Given the description of an element on the screen output the (x, y) to click on. 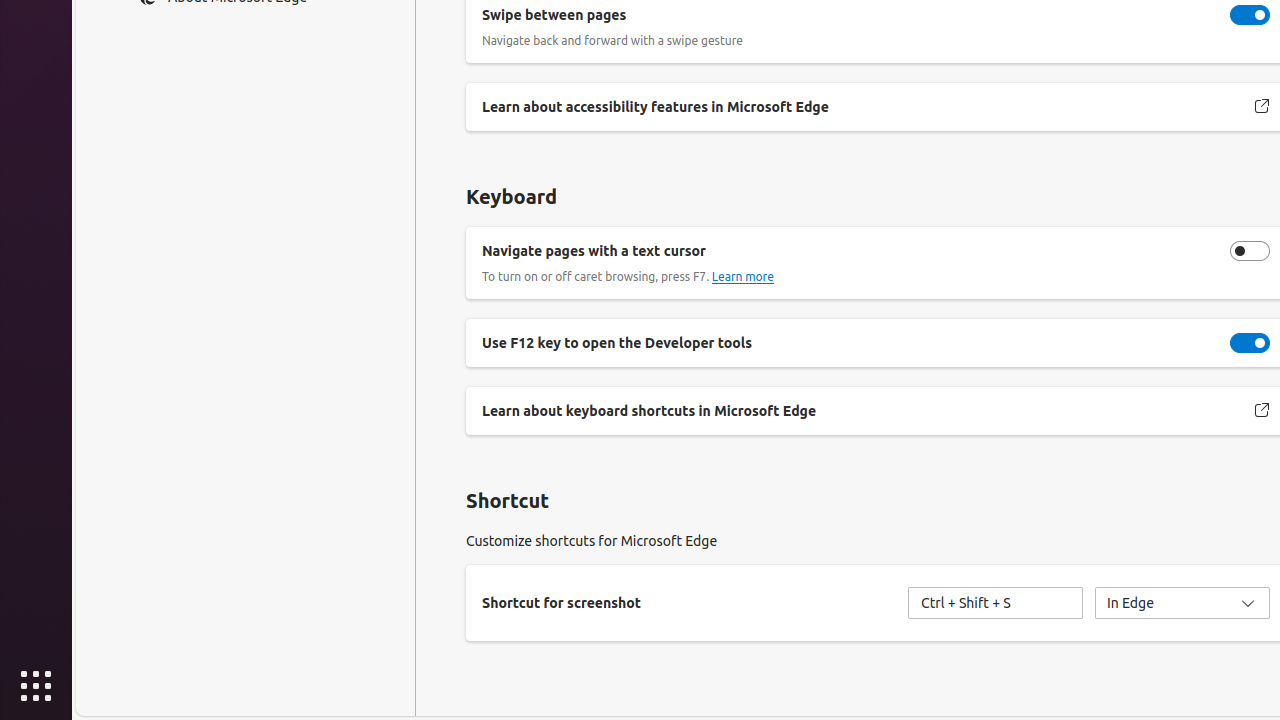
Learn more about caret browsing. Element type: link (742, 277)
Use F12 key to open the Developer tools Element type: check-box (1250, 343)
Navigate back and forward with a swipe gesture Element type: check-box (1250, 15)
